Given the description of an element on the screen output the (x, y) to click on. 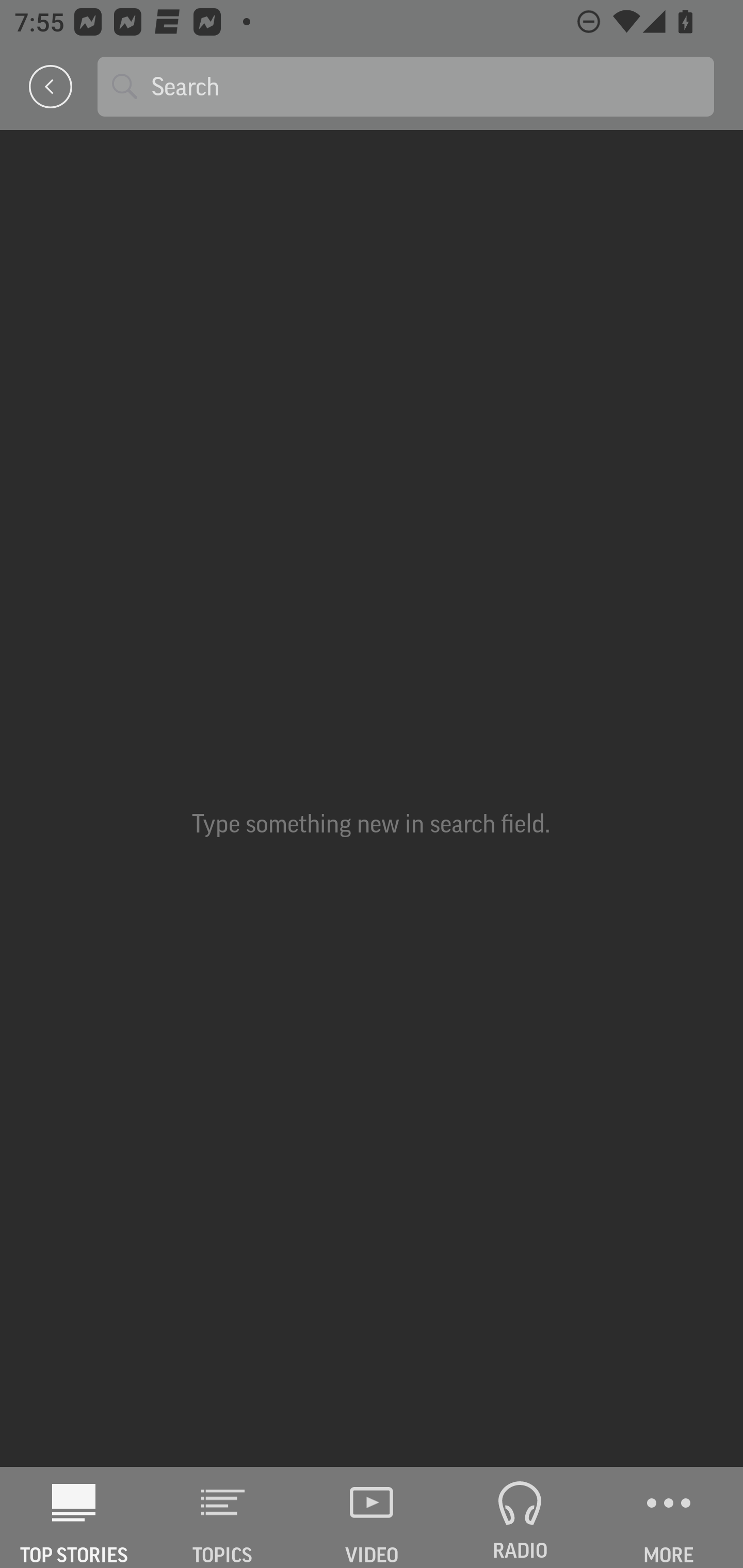
Search (425, 86)
AP News TOP STORIES (74, 1517)
TOPICS (222, 1517)
VIDEO (371, 1517)
RADIO (519, 1517)
MORE (668, 1517)
